Given the description of an element on the screen output the (x, y) to click on. 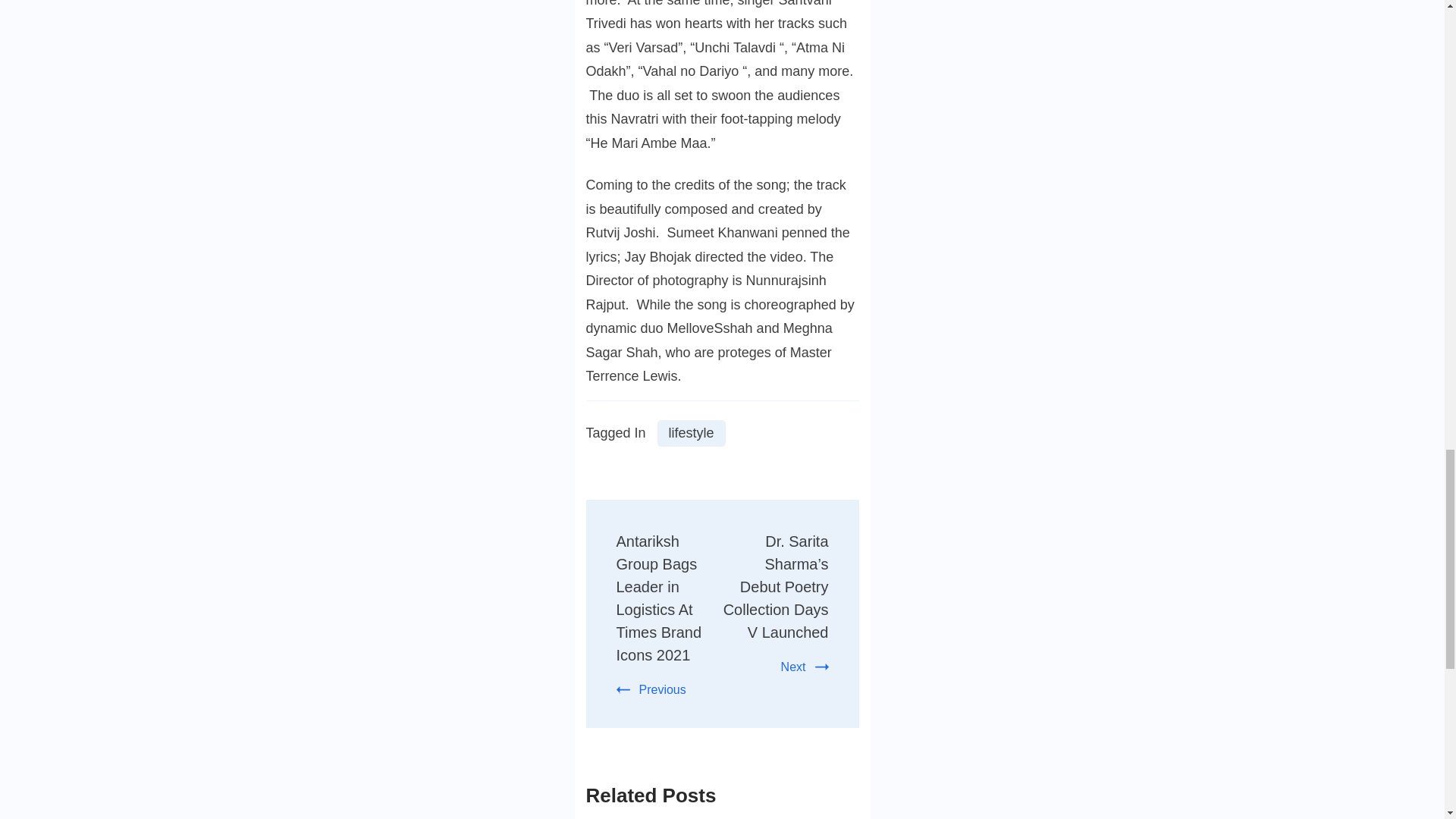
Next (804, 666)
Previous (650, 689)
lifestyle (691, 433)
